Given the description of an element on the screen output the (x, y) to click on. 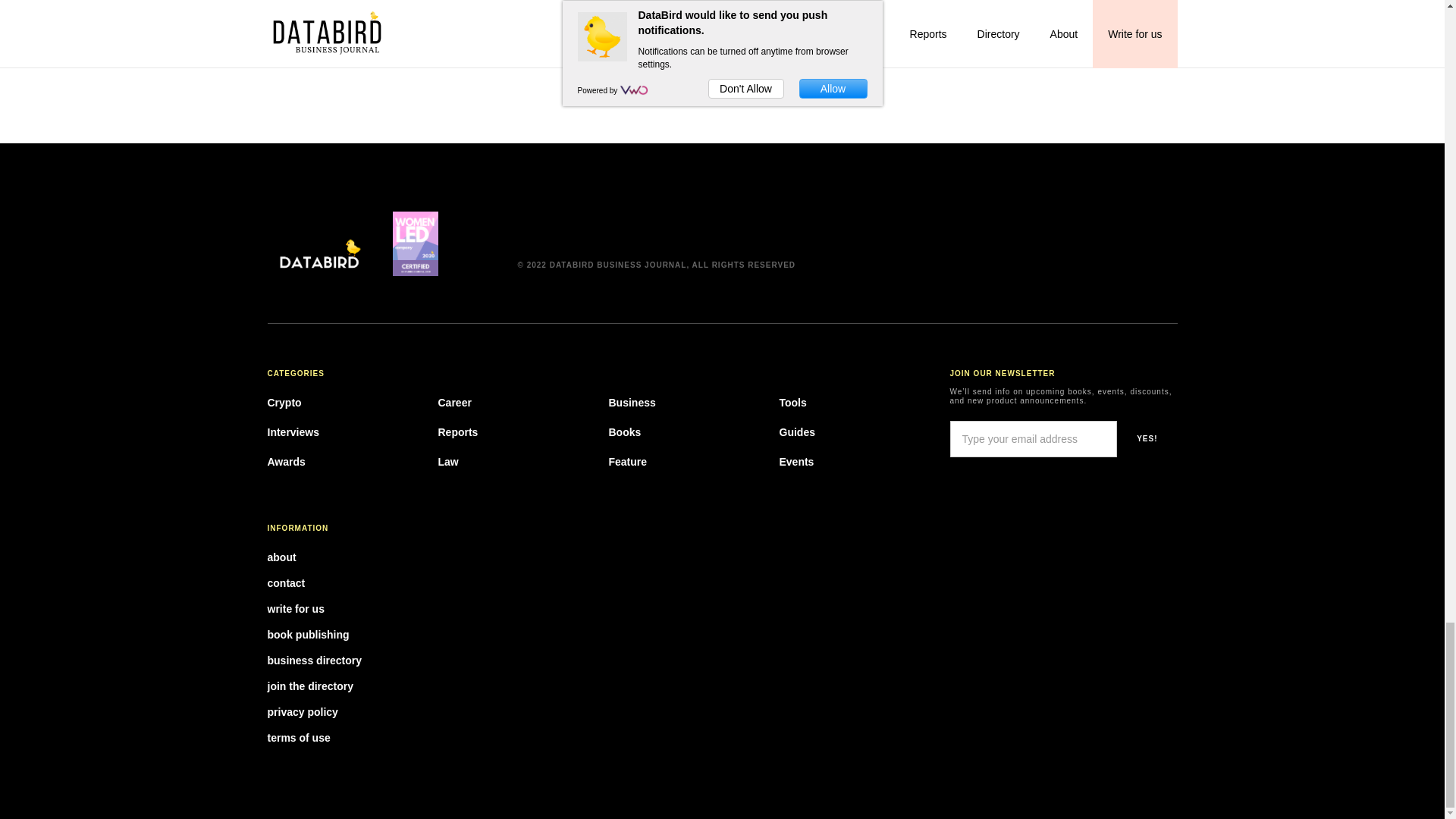
YES! (1146, 438)
